Given the description of an element on the screen output the (x, y) to click on. 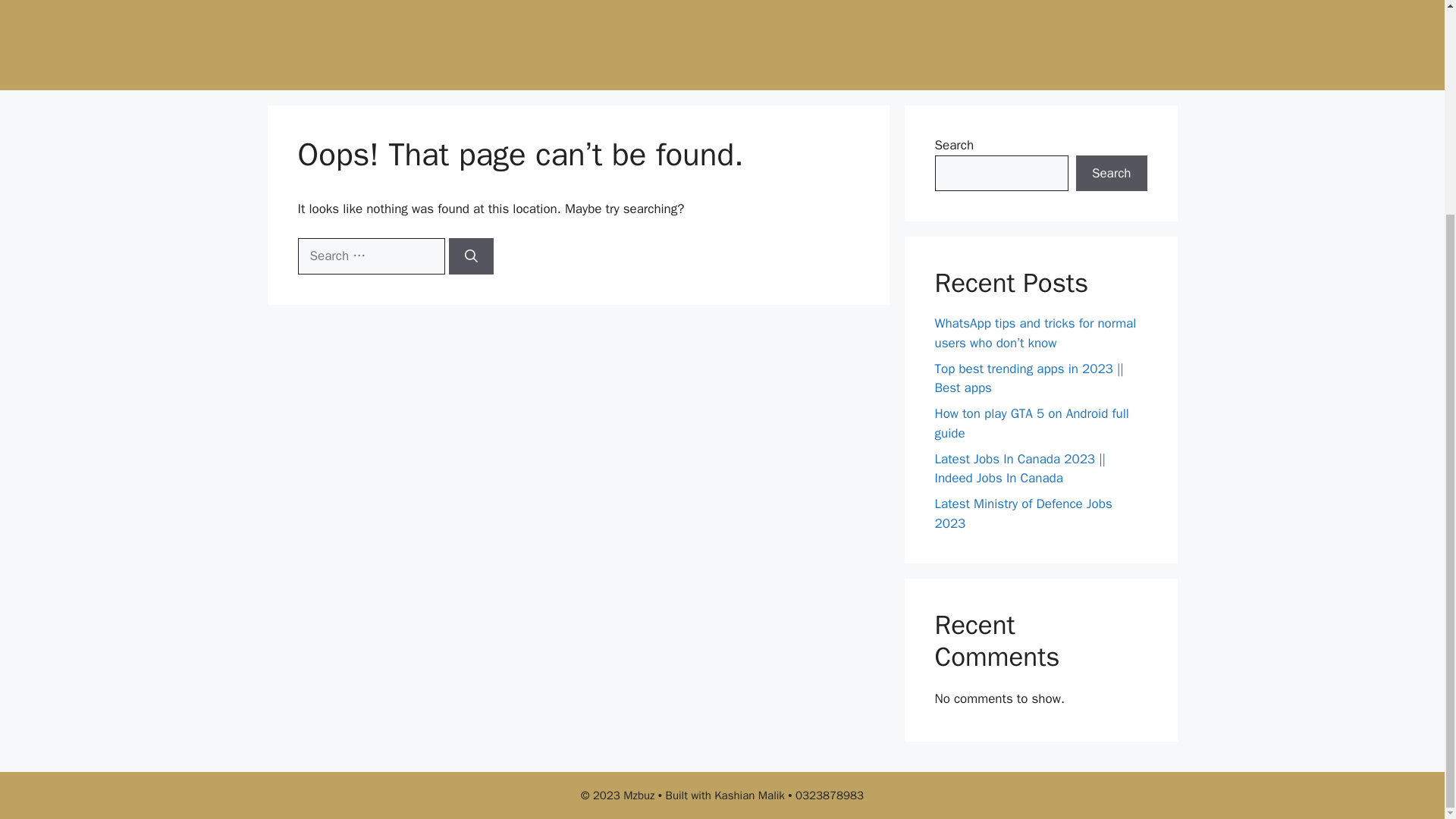
Search for: (370, 256)
Advertisement (737, 41)
How ton play GTA 5 on Android full guide (1031, 423)
Search (1111, 173)
Latest Ministry of Defence Jobs 2023 (1023, 513)
